Given the description of an element on the screen output the (x, y) to click on. 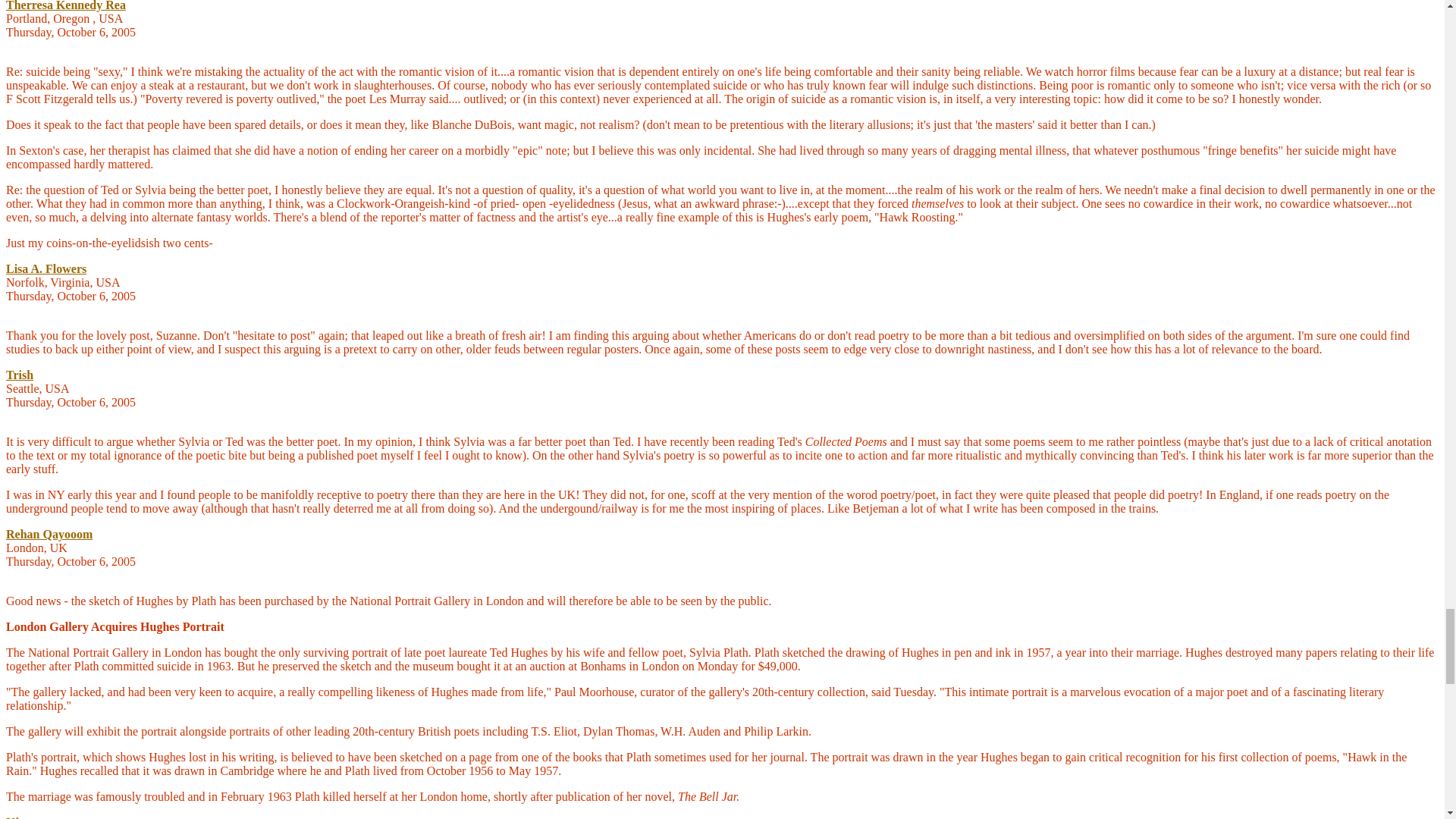
Kim (17, 817)
Therresa Kennedy Rea (65, 5)
Rehan Qayooom (49, 533)
Trish (19, 374)
Lisa A. Flowers (45, 268)
